Given the description of an element on the screen output the (x, y) to click on. 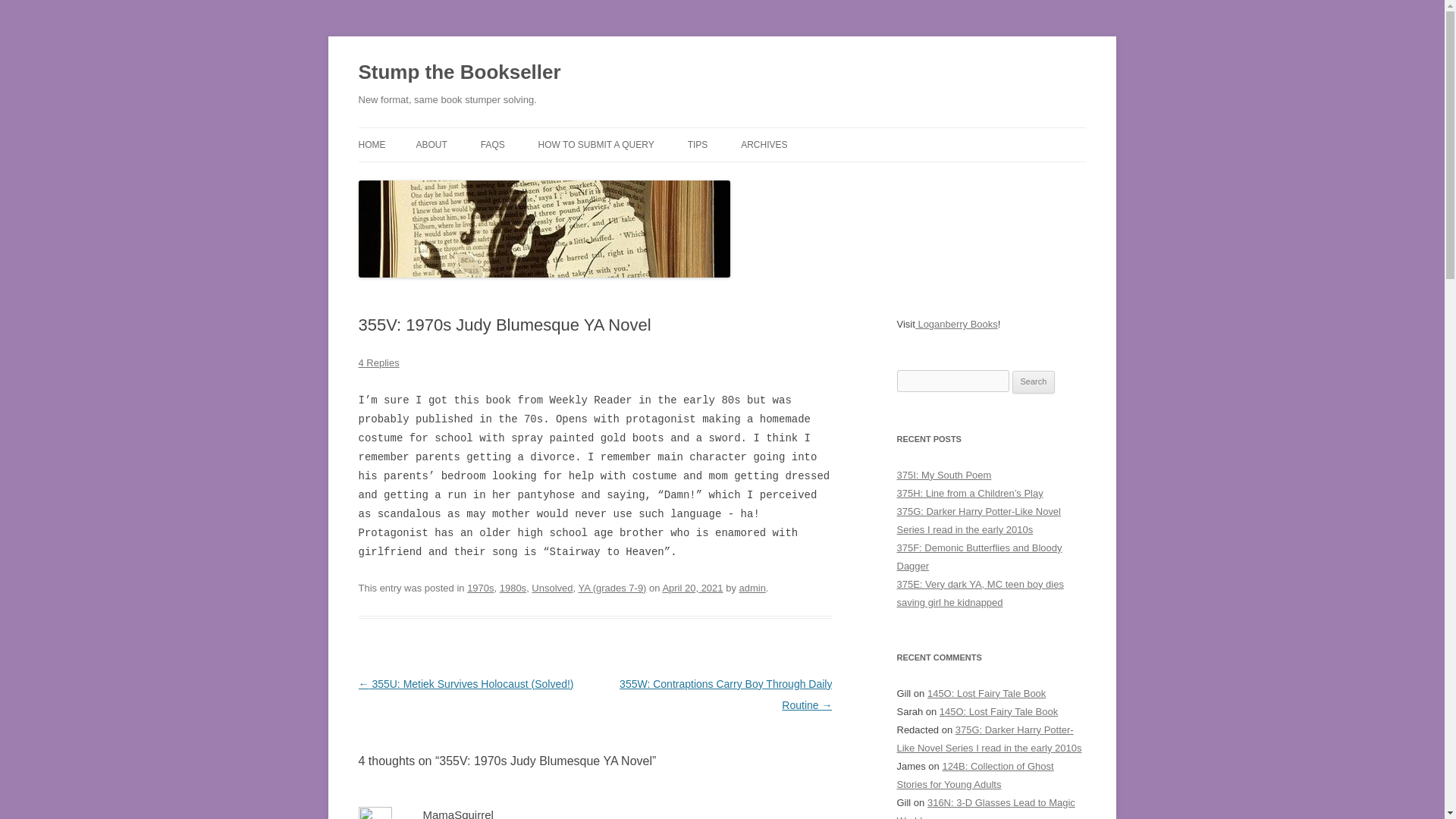
4 Replies (378, 362)
Search (1033, 382)
11:24 am (692, 587)
ARCHIVES (764, 144)
April 20, 2021 (692, 587)
Unsolved (551, 587)
Stump the Bookseller (459, 72)
ABOUT (430, 144)
HOW TO SUBMIT A QUERY (595, 144)
admin (751, 587)
View all posts by admin (751, 587)
1980s (512, 587)
375I: My South Poem (943, 474)
